Given the description of an element on the screen output the (x, y) to click on. 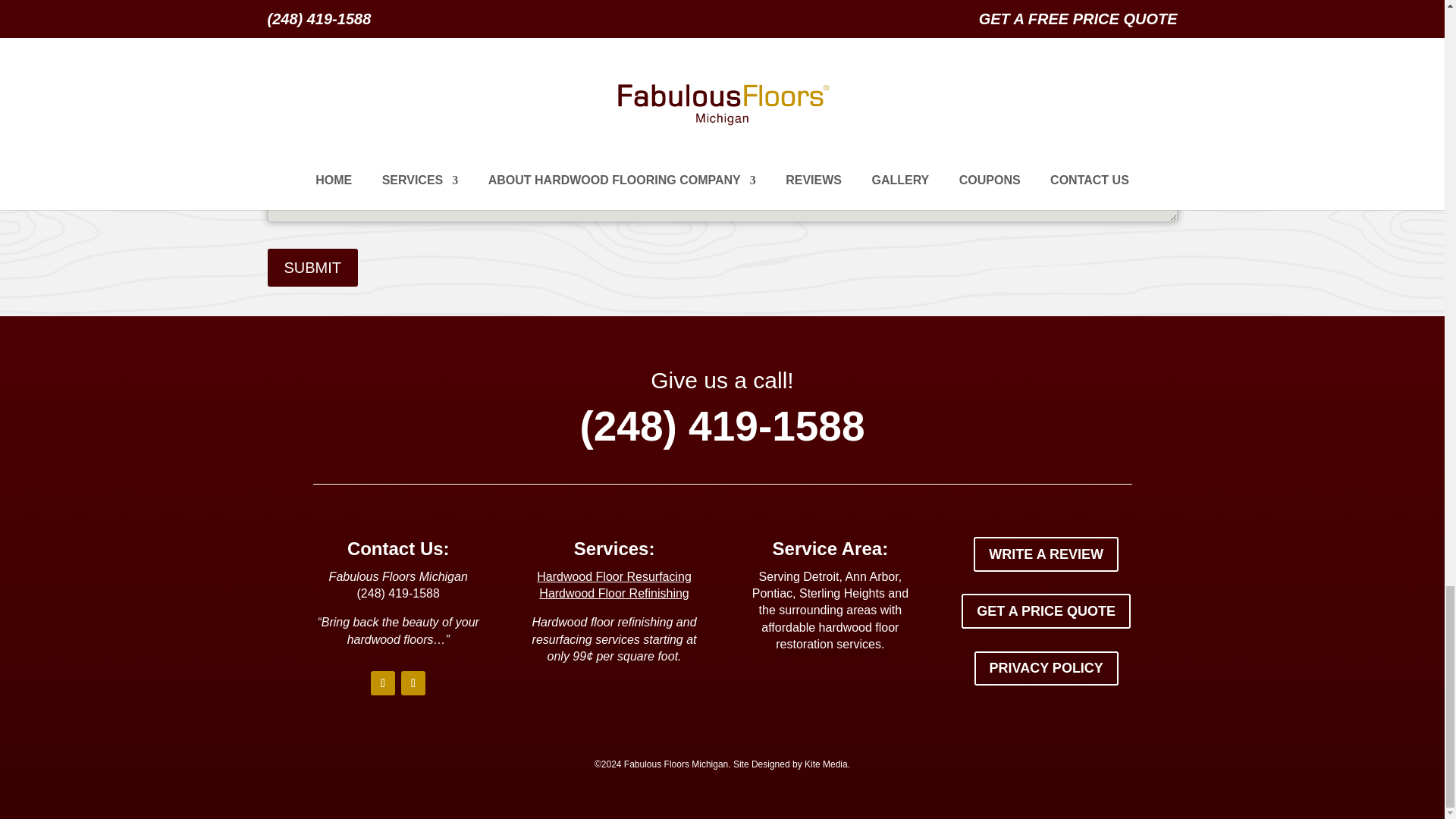
Hardwood Floor Resurfacing (614, 576)
Refinishing (877, 22)
SUBMIT (312, 267)
Not Sure? (976, 22)
SUBMIT (312, 267)
Follow on Pinterest (413, 682)
Hardwood Floor Refinishing (613, 593)
Resurfacing (770, 22)
Follow on Facebook (382, 682)
